Given the description of an element on the screen output the (x, y) to click on. 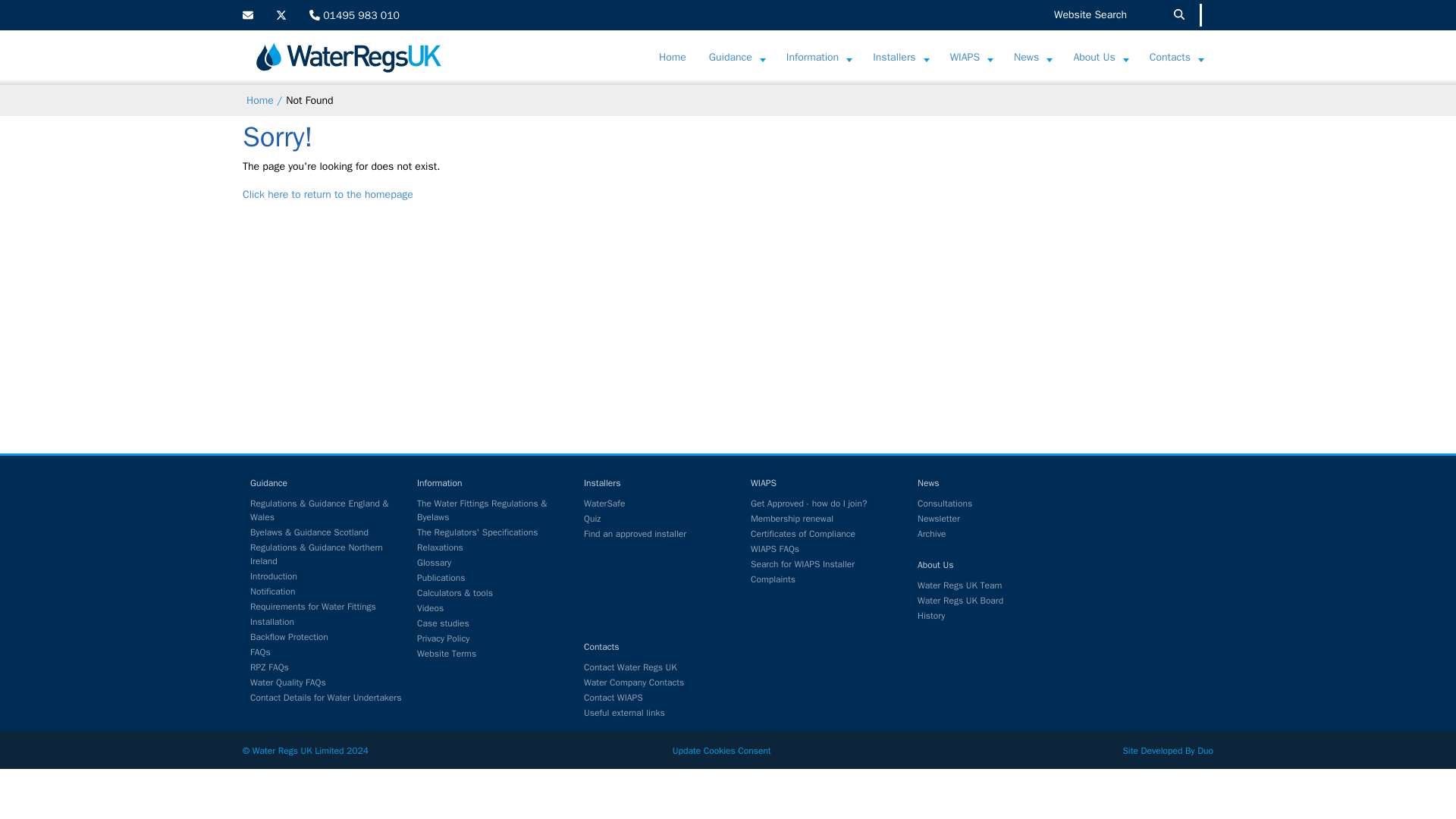
WIAPS (965, 57)
Installers (893, 57)
Home (672, 57)
Information (812, 57)
Guidance (729, 57)
01495 983 010 (353, 15)
